Given the description of an element on the screen output the (x, y) to click on. 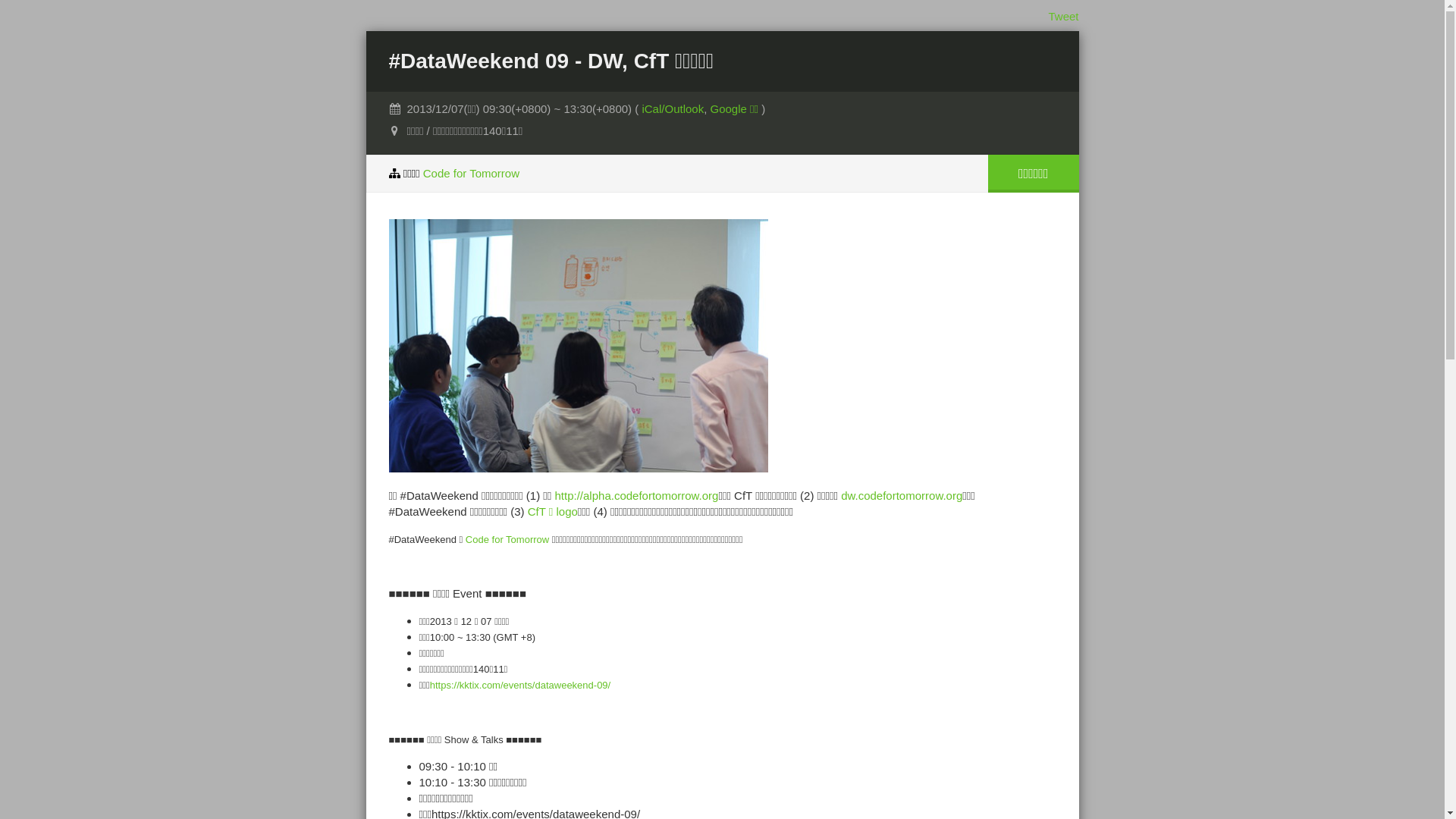
Tweet Element type: text (1063, 15)
Code for Tomorrow Element type: text (507, 539)
iCal/Outlook Element type: text (672, 108)
Code for Tomorrow Element type: text (471, 172)
dw.codefortomorrow.org Element type: text (901, 495)
http://alpha.codefortomorrow.org Element type: text (636, 495)
https://kktix.com/events/dataweekend-09/ Element type: text (519, 684)
IMG_2275 by ckliu355, on Flickr Element type: hover (577, 467)
